Given the description of an element on the screen output the (x, y) to click on. 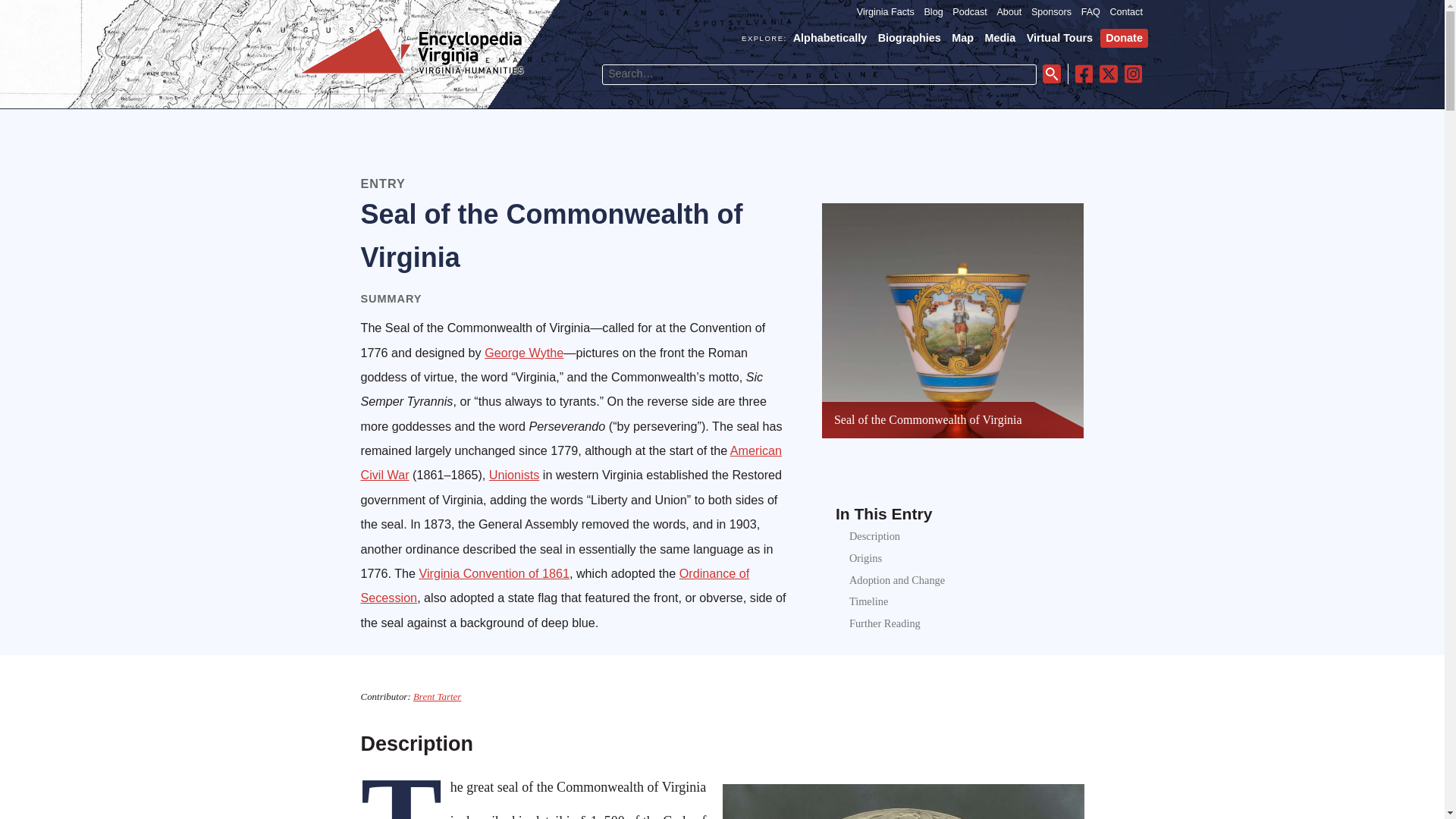
Further Reading (884, 623)
Encyclopedia Virginia, Virginia Humanities (411, 72)
FAQ (1090, 11)
Adoption and Change (896, 580)
Timeline (868, 601)
Virginia Facts (885, 11)
Alphabetically (830, 38)
George Wythe (523, 352)
Media (999, 38)
Brent Tarter (437, 696)
Blog (932, 11)
Podcast (969, 11)
Virginia Convention of 1861 (494, 572)
Contact (1125, 11)
Seal of the Commonwealth of Virginia (928, 419)
